Given the description of an element on the screen output the (x, y) to click on. 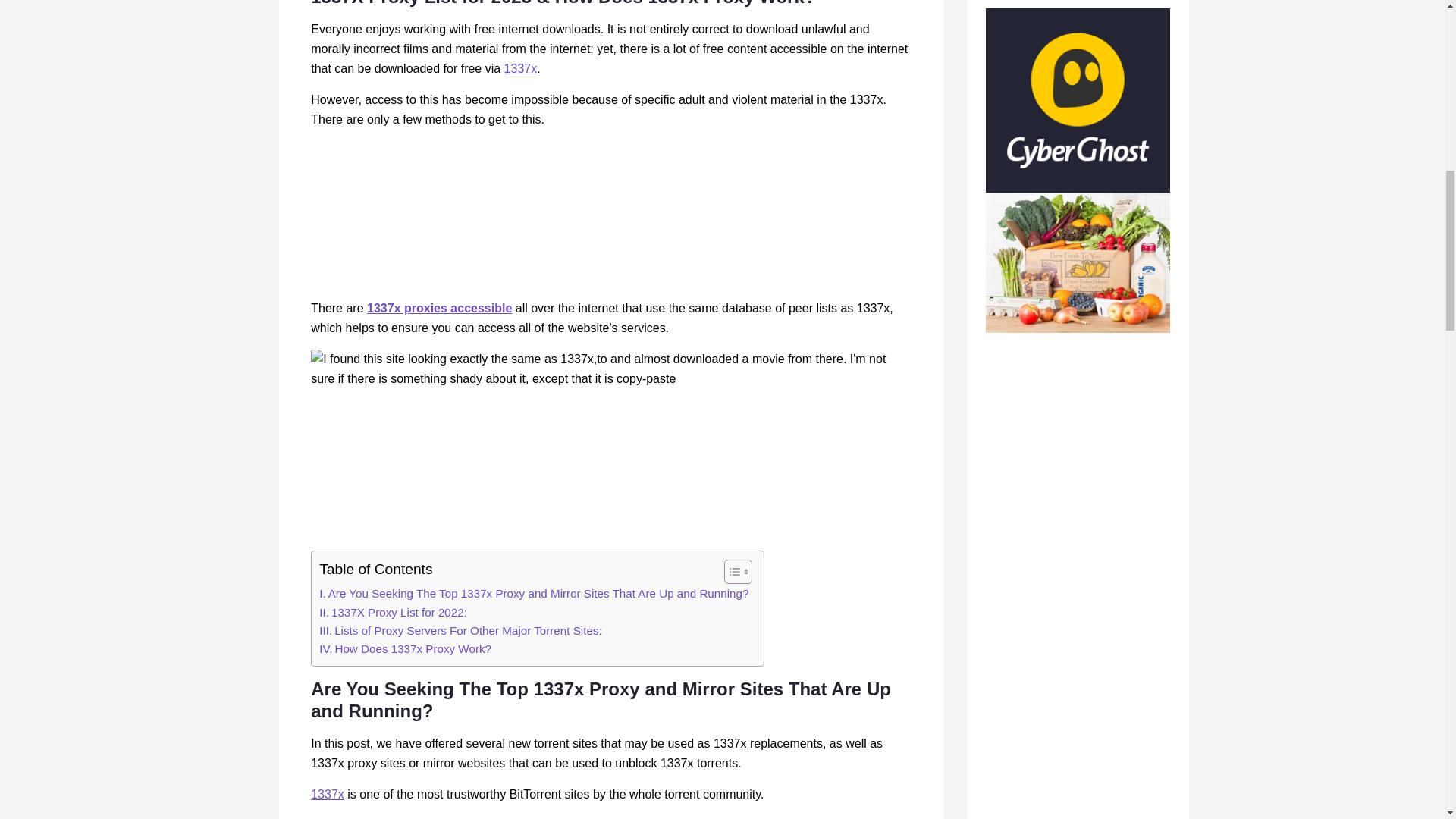
Advertisement (611, 475)
Advertisement (611, 215)
How Does 1337x Proxy Work? (405, 648)
1337X Proxy List for 2022: (392, 612)
1337X Proxy List for 2022: (392, 612)
Lists of Proxy Servers For Other Major Torrent Sites: (459, 630)
How Does 1337x Proxy Work? (405, 648)
Lists of Proxy Servers For Other Major Torrent Sites: (459, 630)
1337x (520, 68)
1337x (327, 793)
1337x proxies accessible (439, 308)
